Given the description of an element on the screen output the (x, y) to click on. 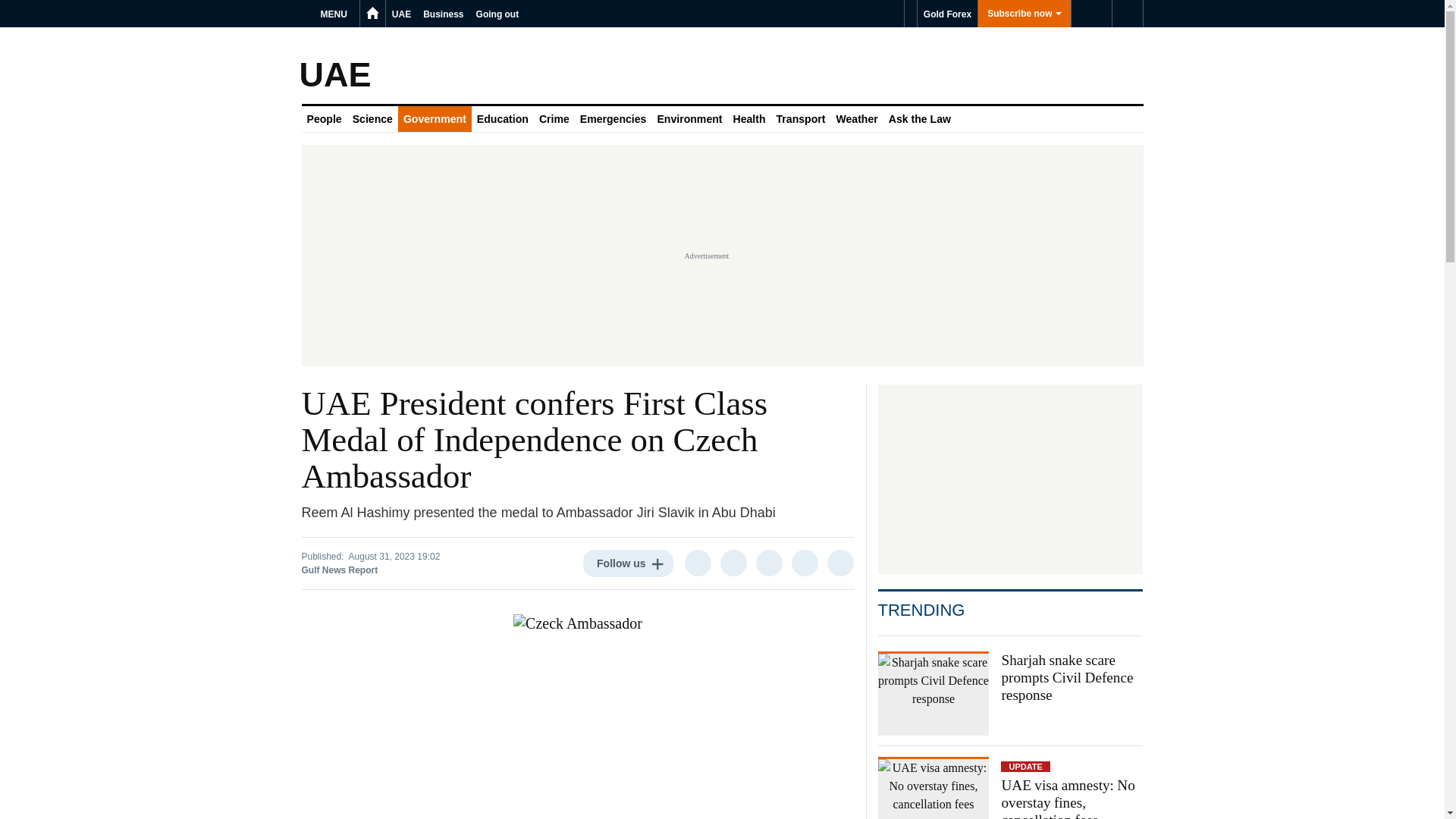
MENU (336, 13)
Subscribe now (1024, 13)
Going out (497, 13)
Business (442, 13)
UAE (400, 13)
Gold Forex (946, 13)
